Given the description of an element on the screen output the (x, y) to click on. 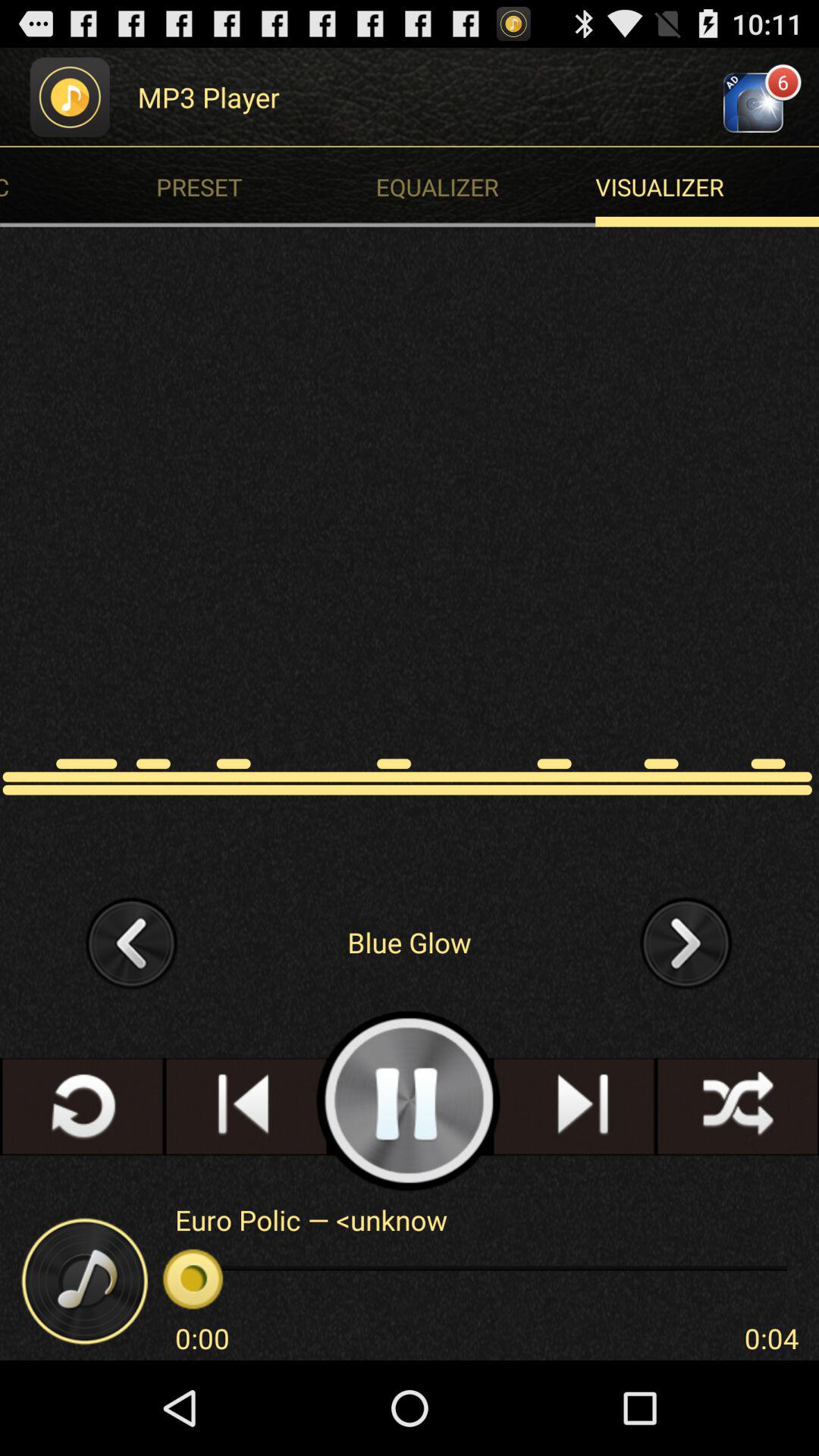
forward to another song (686, 941)
